Given the description of an element on the screen output the (x, y) to click on. 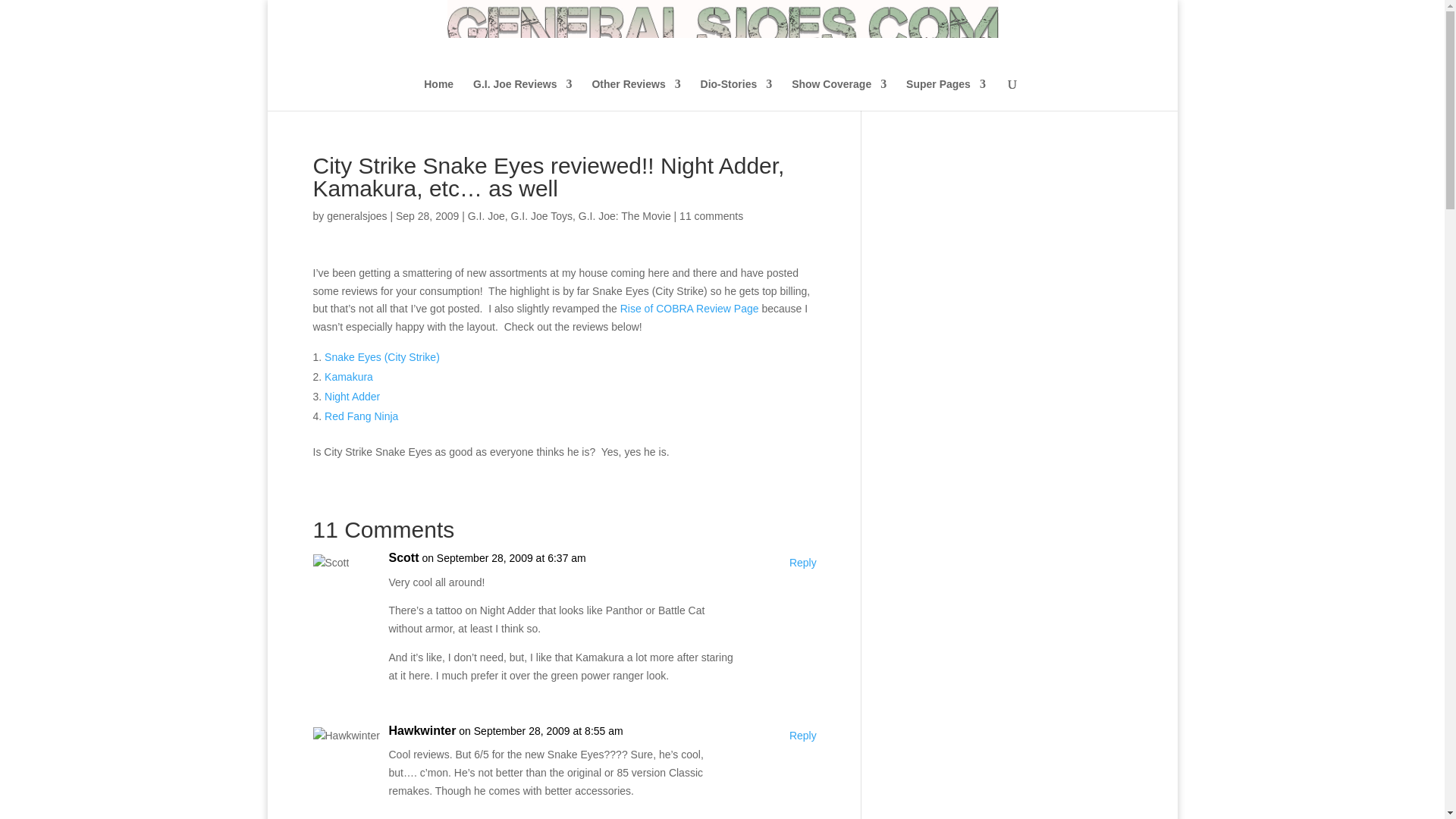
Home (437, 94)
G.I. Joe Reviews (522, 94)
Posts by generalsjoes (356, 215)
Other Reviews (635, 94)
Dio-Stories (736, 94)
